Given the description of an element on the screen output the (x, y) to click on. 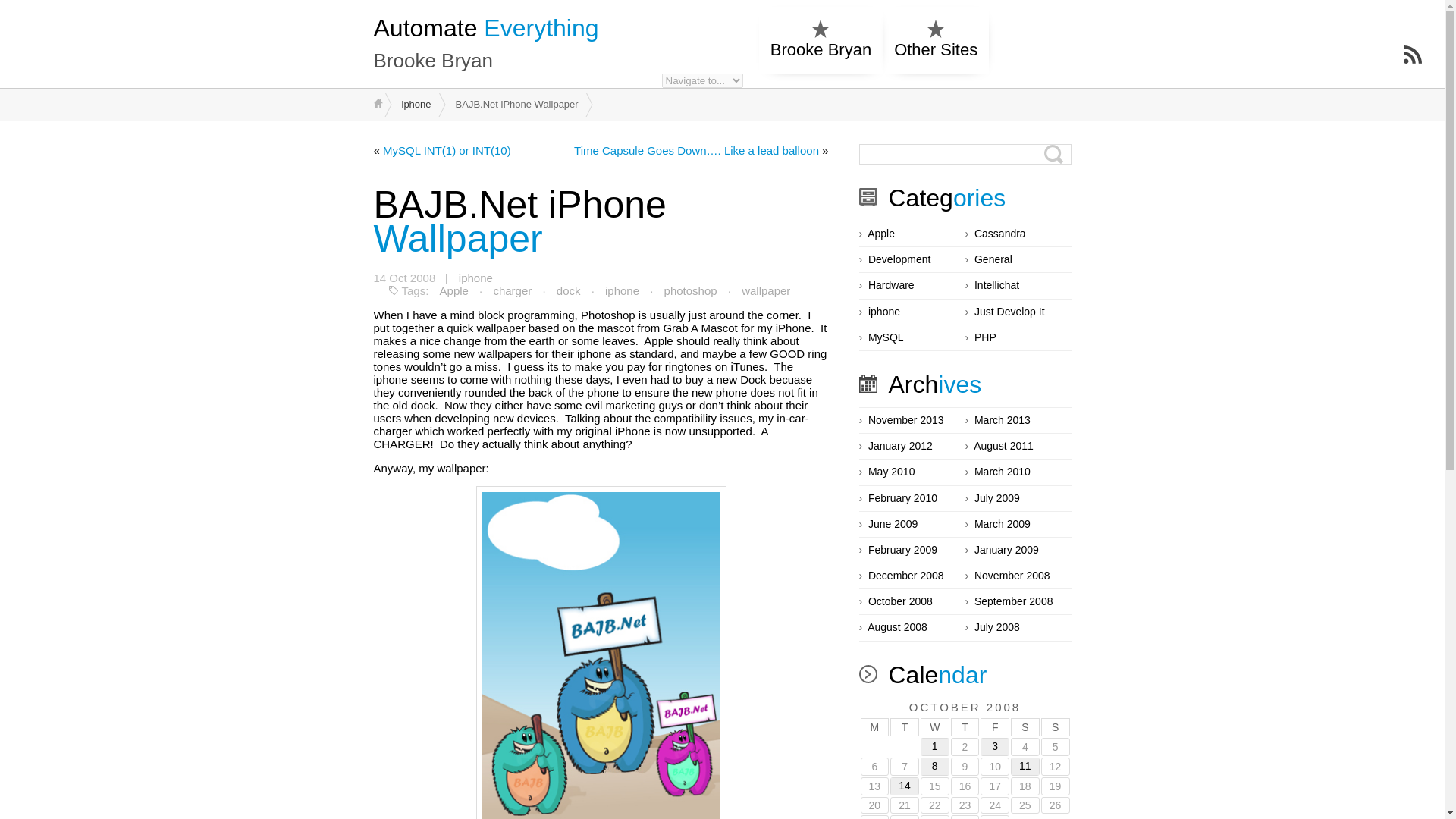
PHP (984, 337)
March 2013 (1002, 420)
View all posts filed under Hardware (890, 285)
Subscribe to RSS Feed (1412, 54)
iphone (415, 103)
Just Develop It (1009, 312)
View all posts filed under MySQL (885, 337)
General (992, 259)
wallpaper (765, 291)
